Given the description of an element on the screen output the (x, y) to click on. 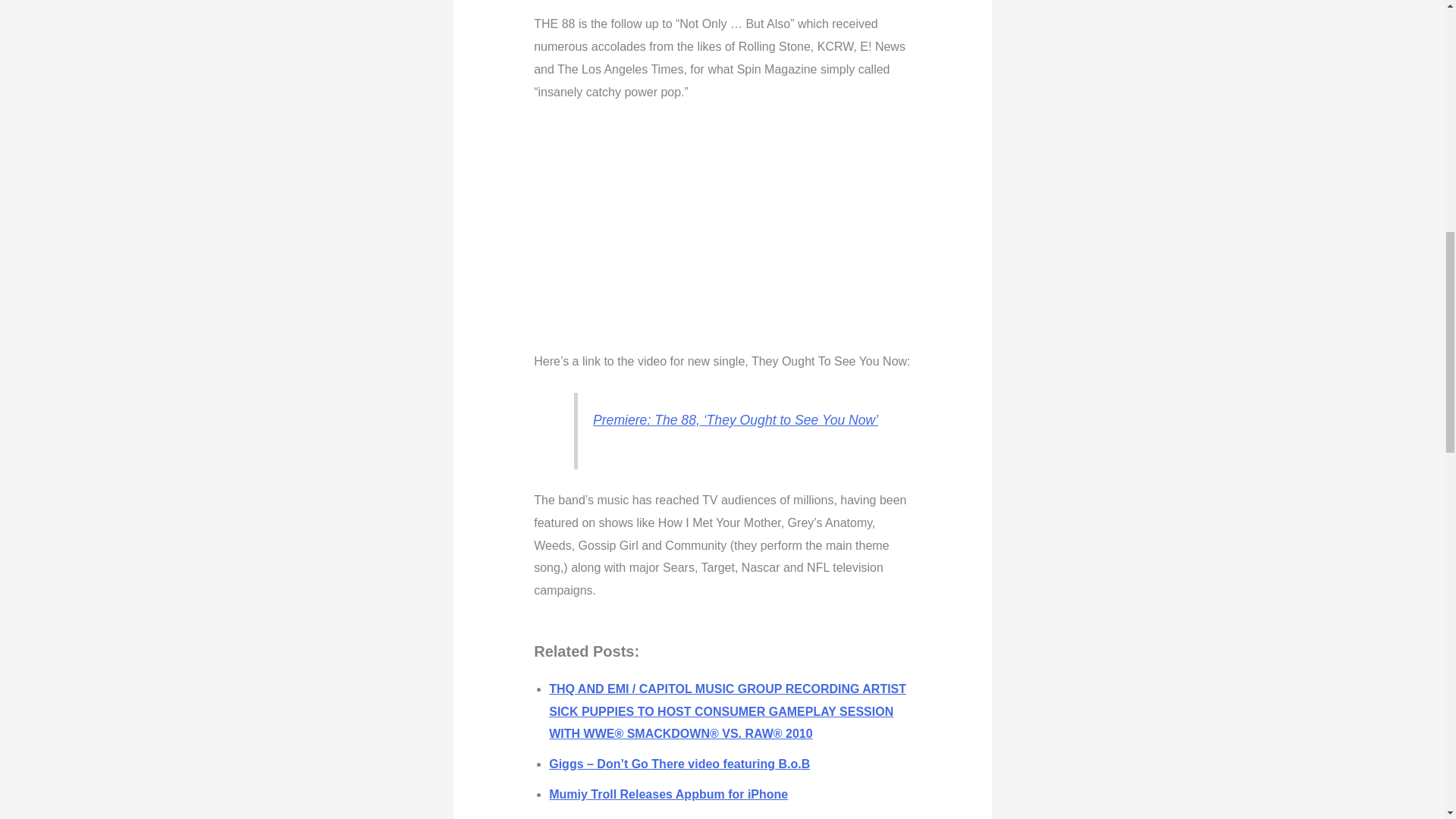
Advertisement (772, 228)
Mumiy Troll Releases Appbum for iPhone (667, 793)
Mumiy Troll Releases Appbum for iPhone (667, 793)
